Given the description of an element on the screen output the (x, y) to click on. 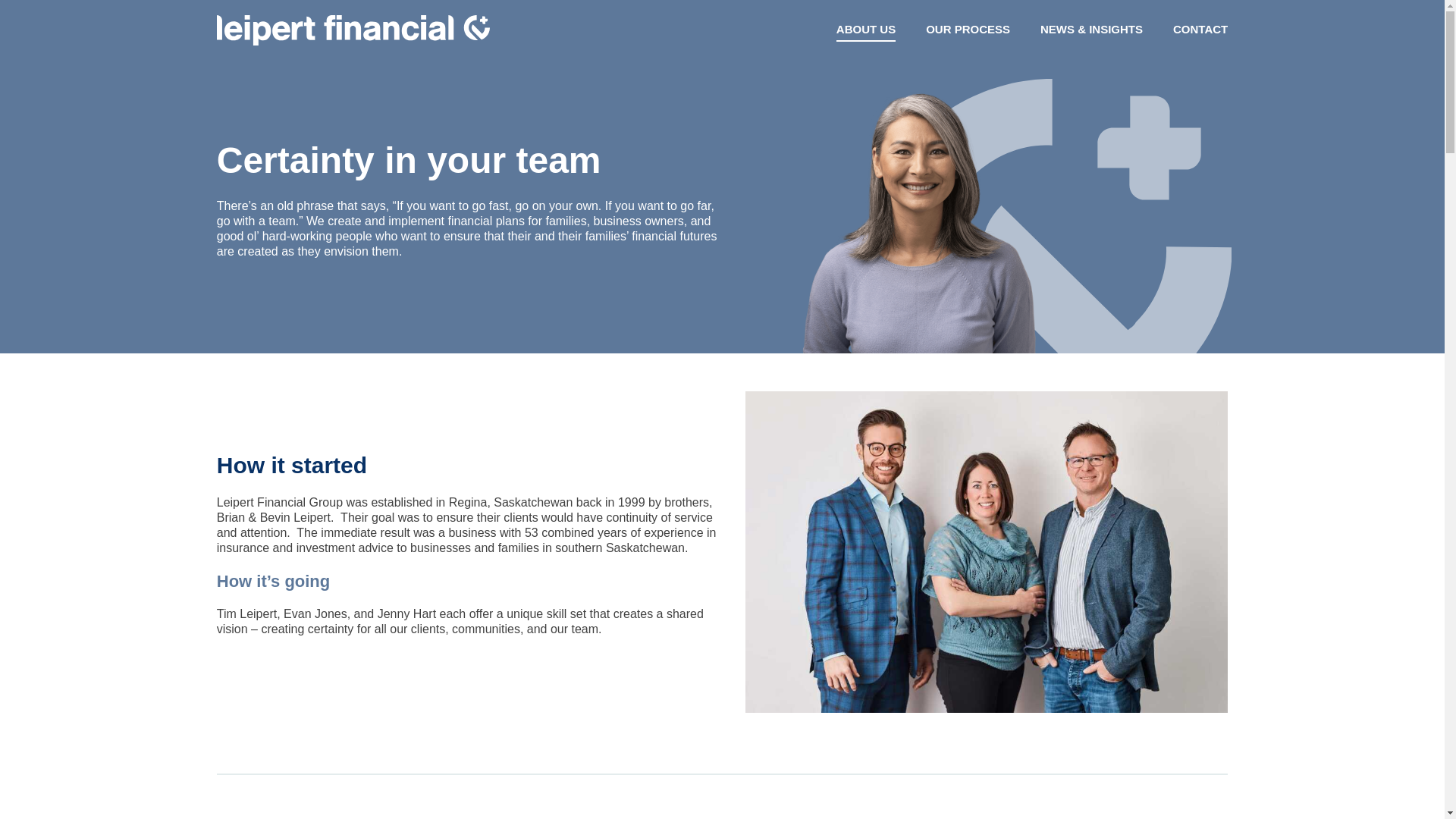
ABOUT US (865, 29)
CONTACT (1200, 29)
OUR PROCESS (968, 29)
